Given the description of an element on the screen output the (x, y) to click on. 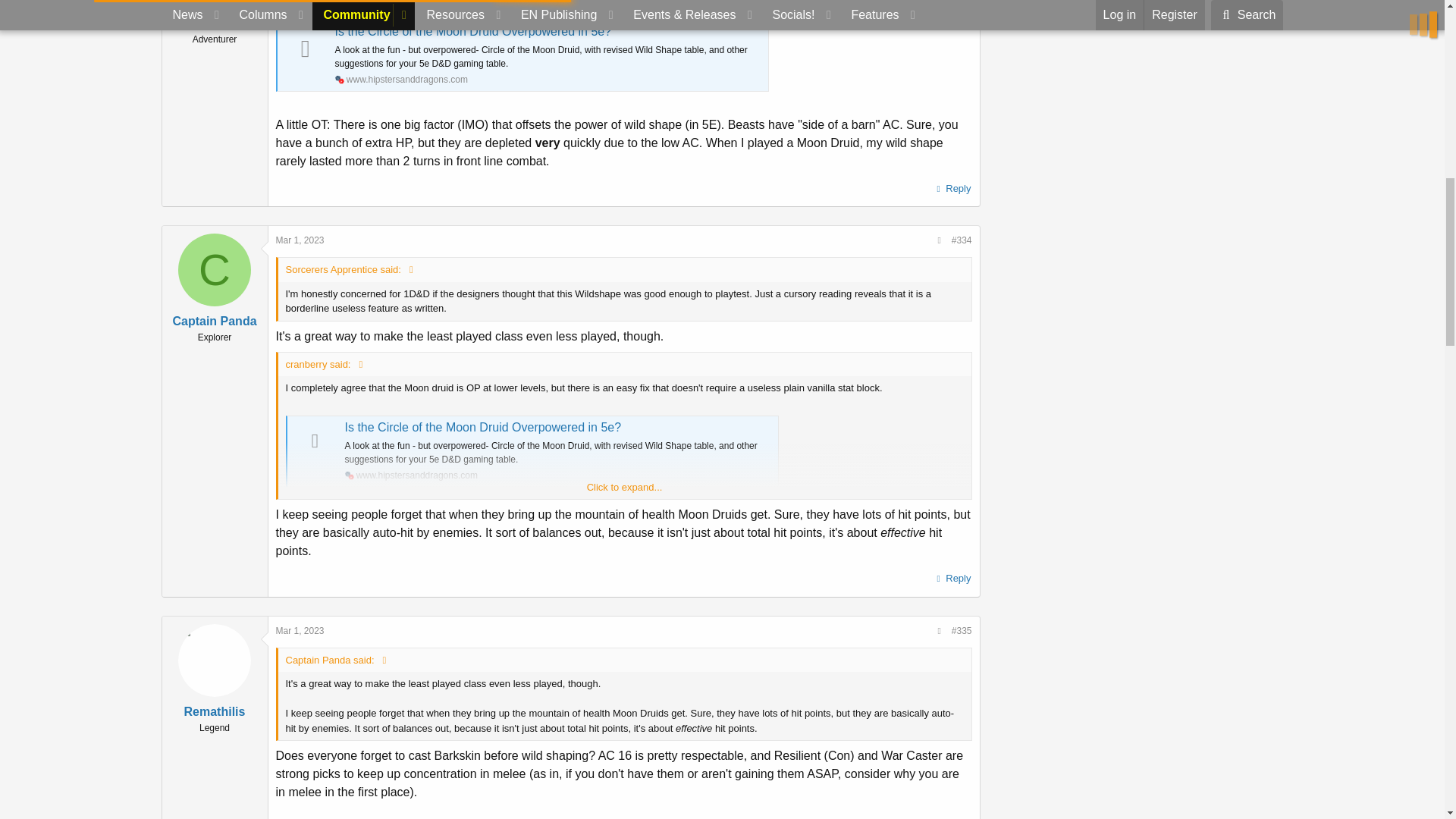
Reply, quoting this message (952, 188)
